Given the description of an element on the screen output the (x, y) to click on. 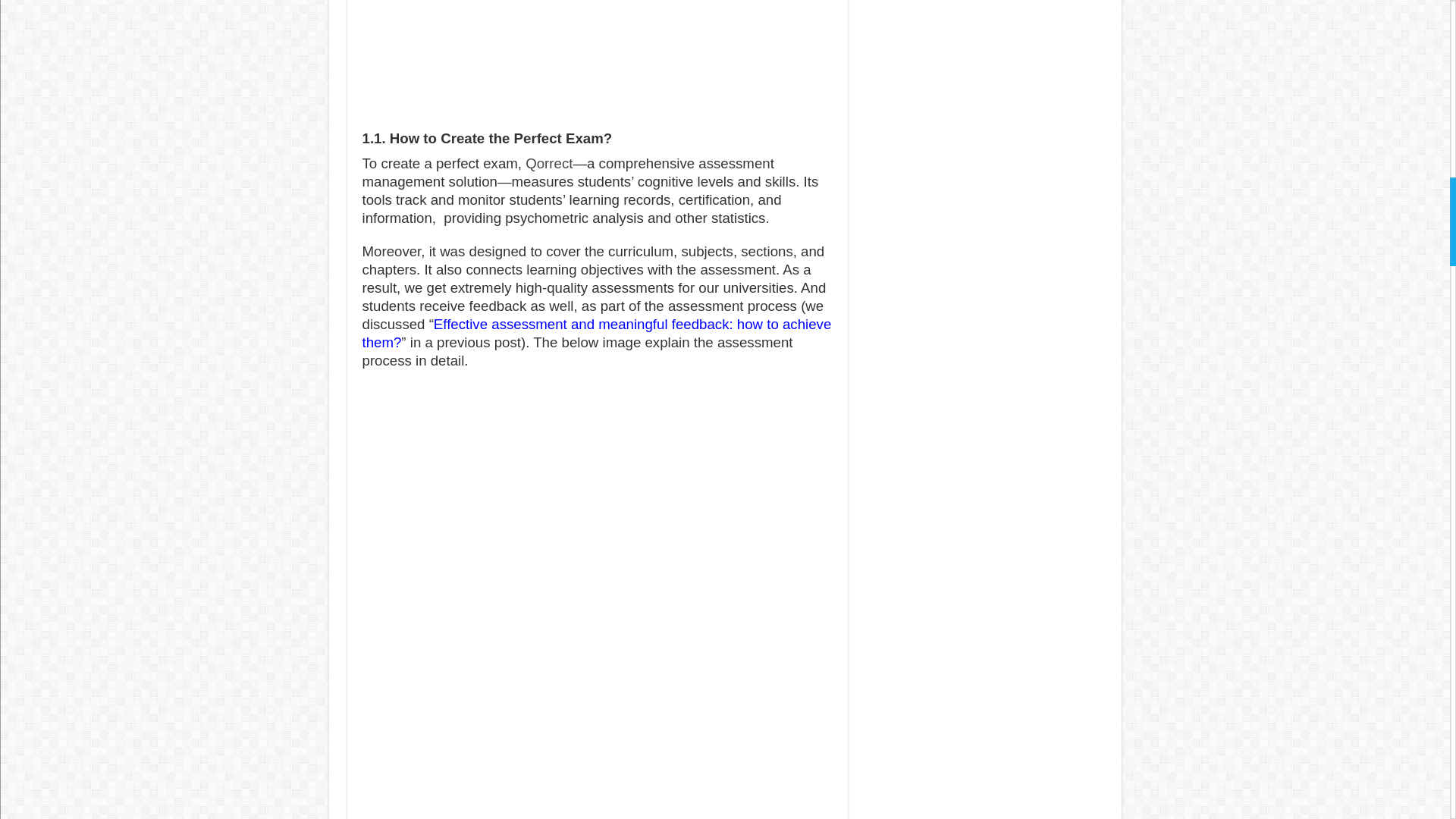
Qorrect (548, 162)
